Given the description of an element on the screen output the (x, y) to click on. 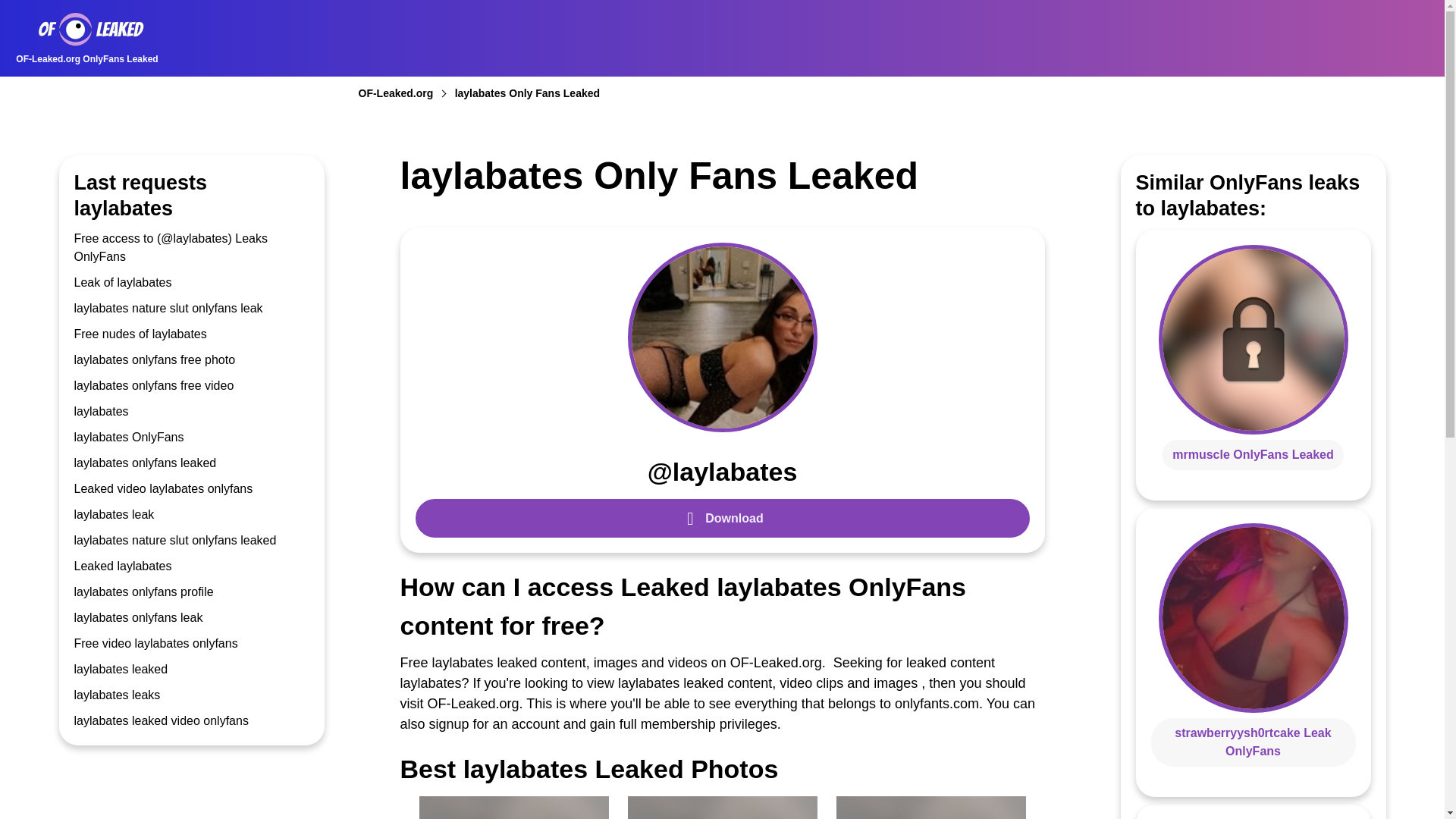
mrmuscle OnlyFans Leaked (1252, 453)
Download (721, 517)
strawberryysh0rtcake Leak OnlyFans (1252, 741)
OF-Leaked.org (404, 93)
